Given the description of an element on the screen output the (x, y) to click on. 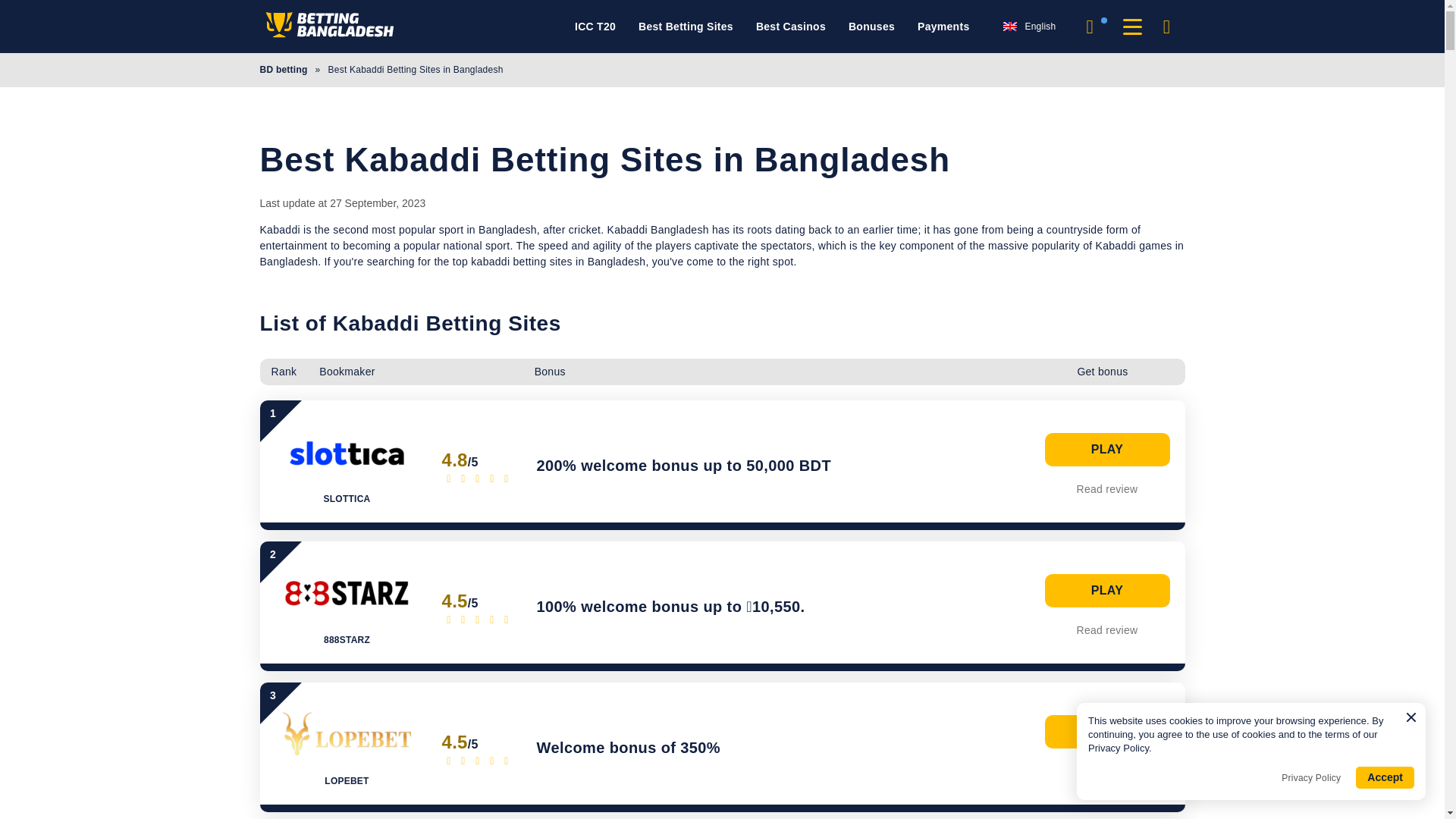
Bonuses (871, 26)
Best Betting Sites (685, 26)
ICC T20 (595, 26)
Payments (943, 26)
Best Casinos (790, 26)
